Given the description of an element on the screen output the (x, y) to click on. 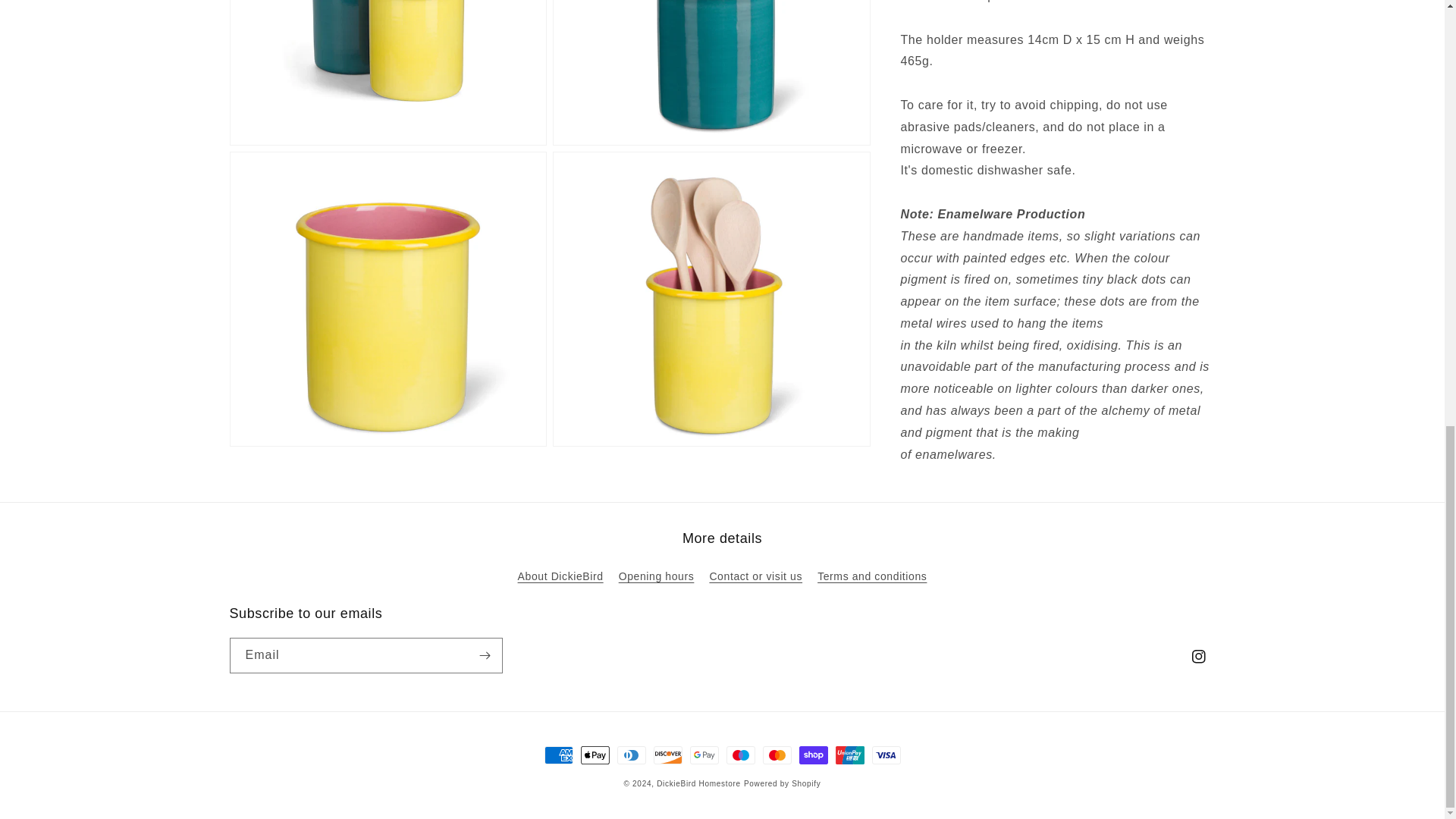
Instagram (1197, 656)
About DickieBird (561, 578)
Opening hours (656, 576)
DickieBird Homestore (698, 783)
Contact or visit us (755, 576)
Powered by Shopify (782, 783)
Terms and conditions (871, 576)
